Given the description of an element on the screen output the (x, y) to click on. 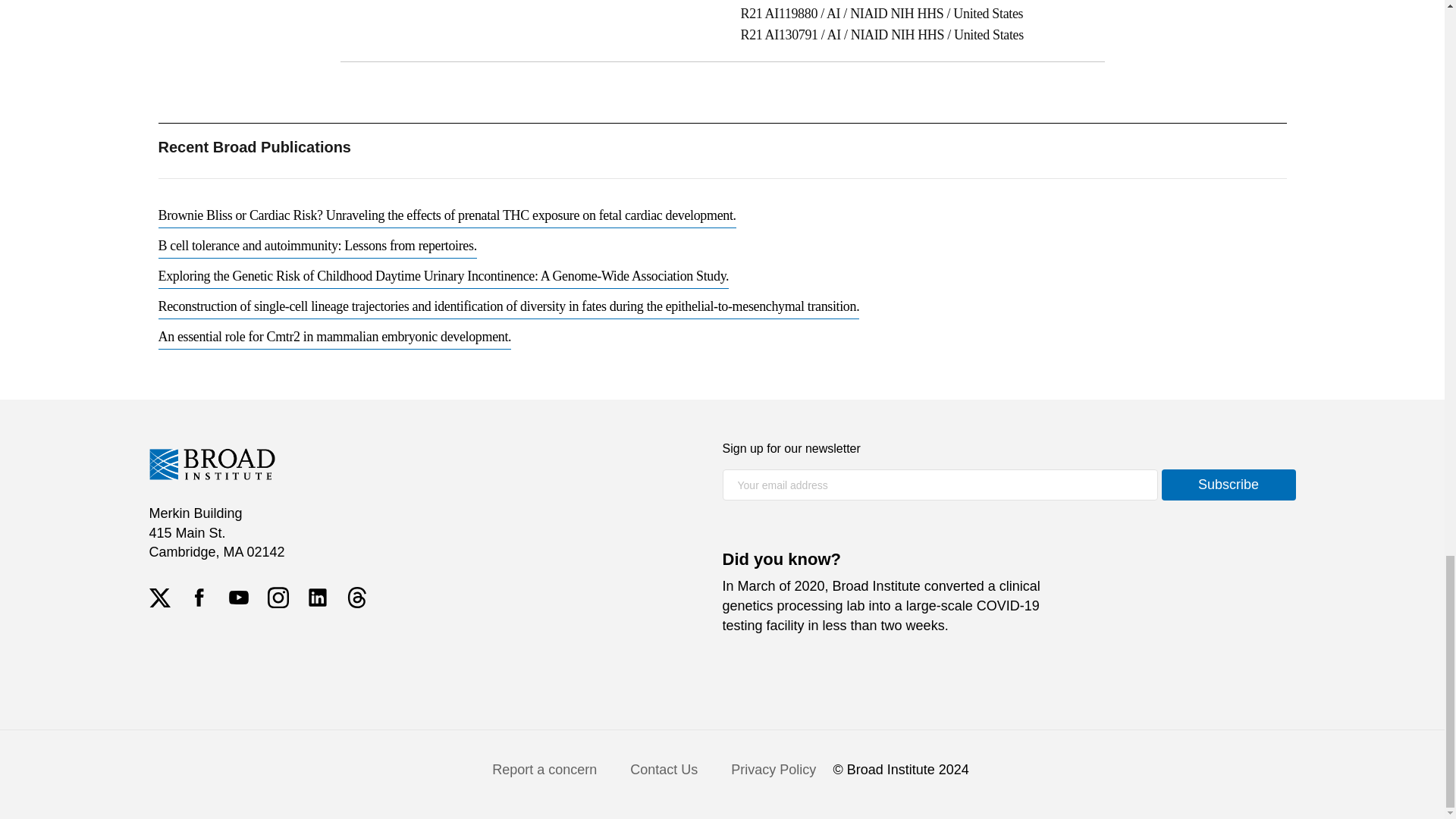
Subscribe (1228, 484)
